Given the description of an element on the screen output the (x, y) to click on. 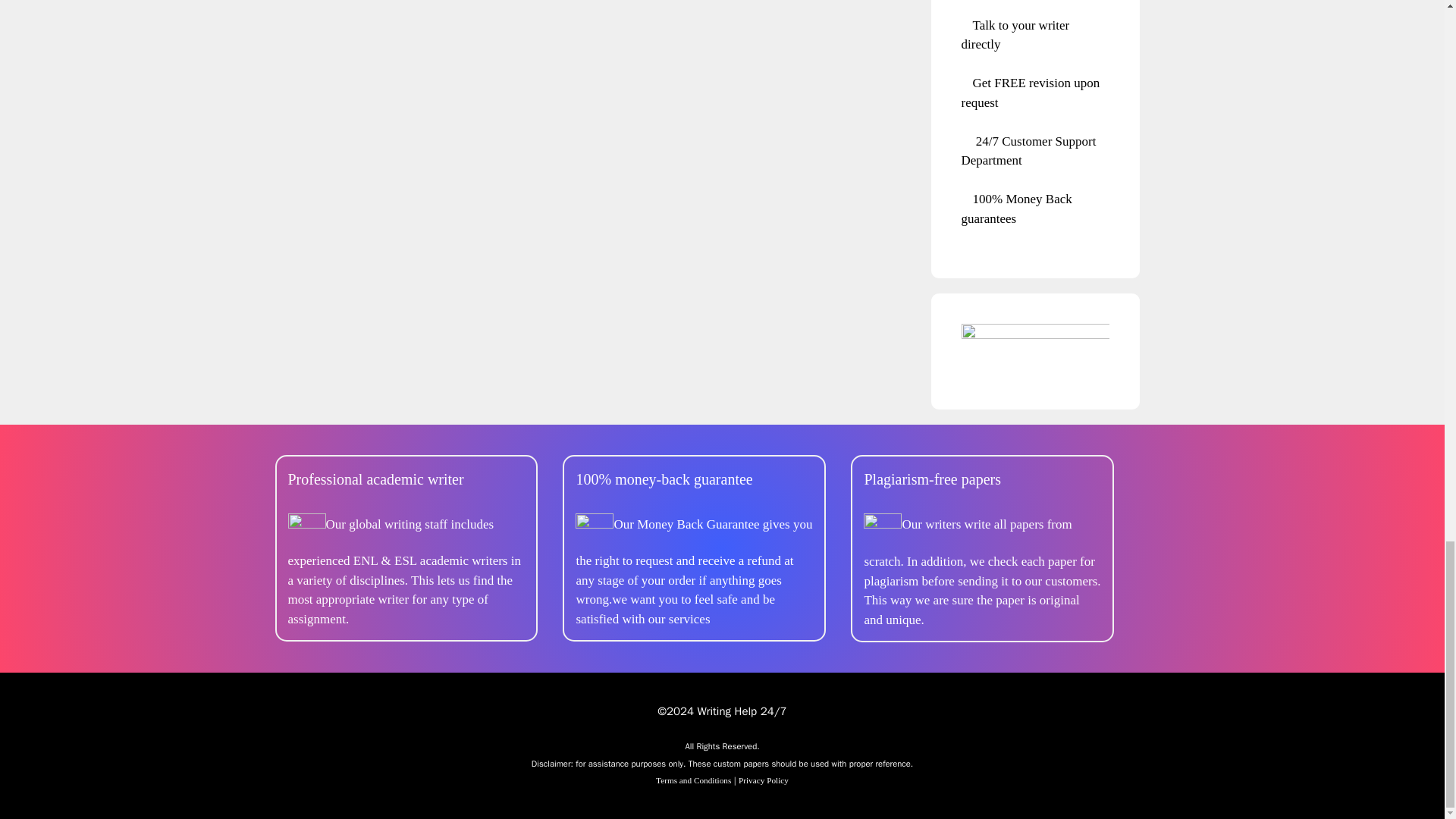
Terms and Conditions (693, 779)
Privacy Policy (763, 779)
